Given the description of an element on the screen output the (x, y) to click on. 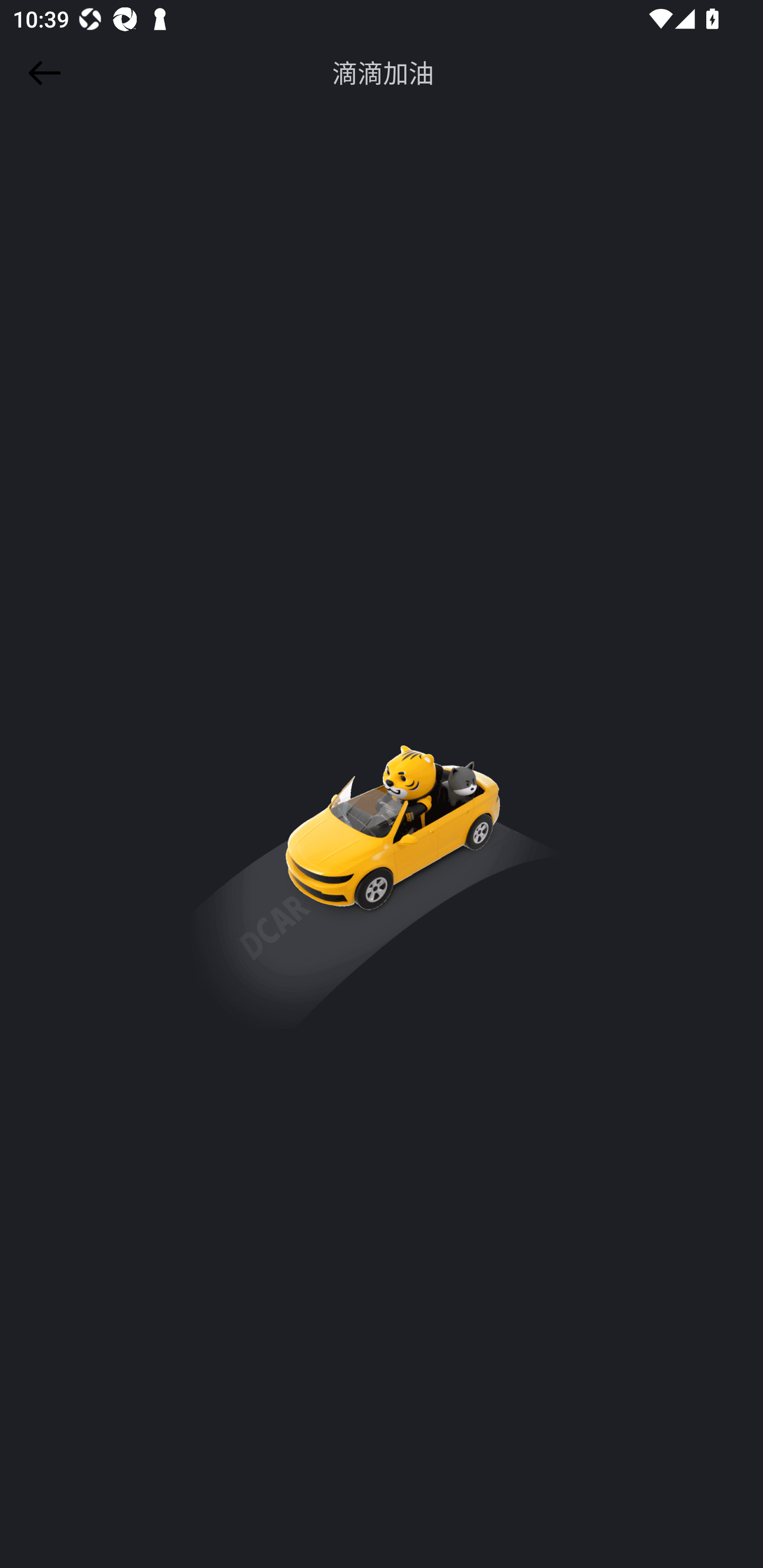
 (41, 72)
